Given the description of an element on the screen output the (x, y) to click on. 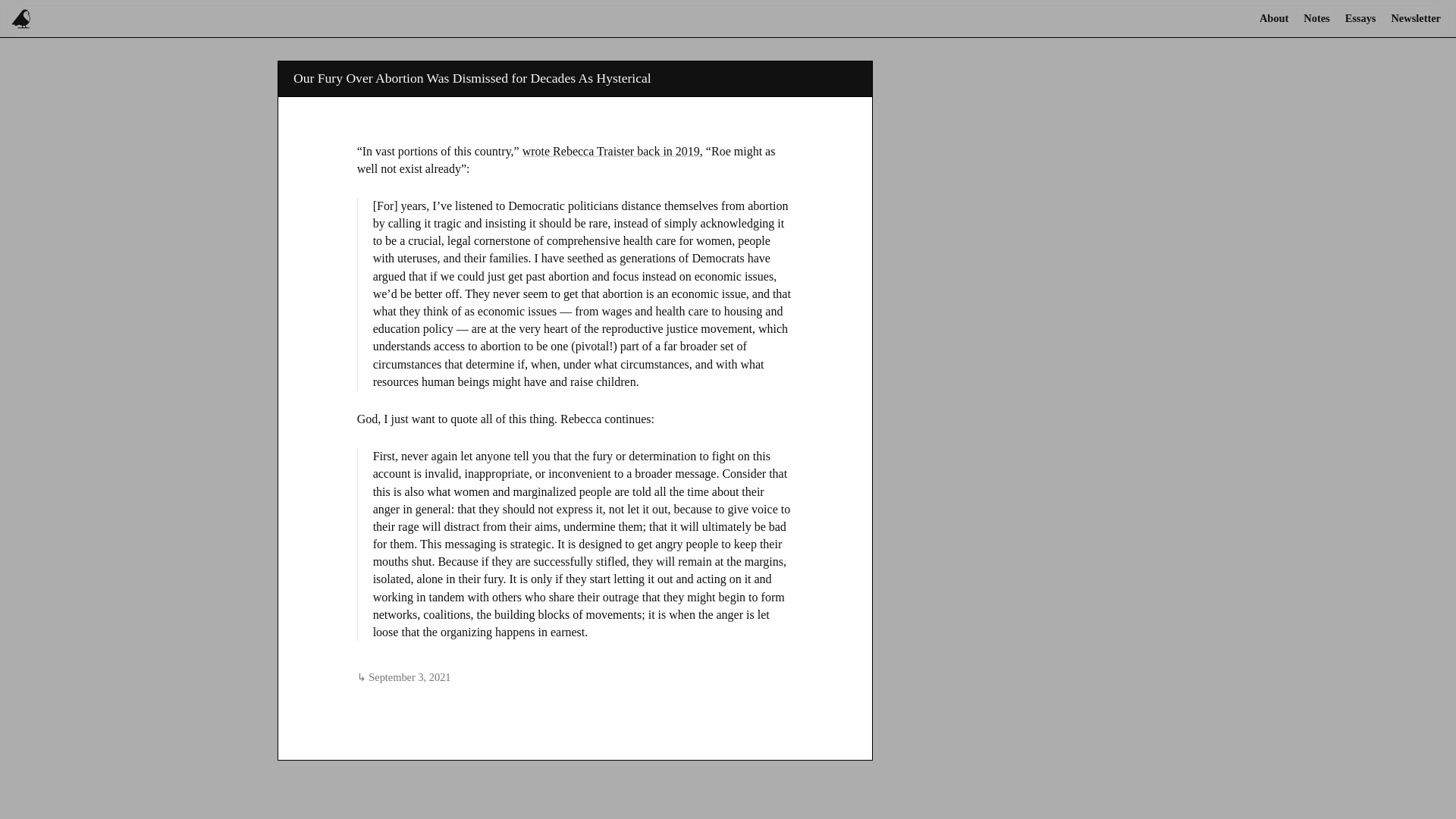
Essays (1361, 18)
Newsletter (1415, 18)
wrote Rebecca Traister back in 2019 (611, 150)
Notes (1315, 18)
About (1273, 18)
Home (22, 18)
